Given the description of an element on the screen output the (x, y) to click on. 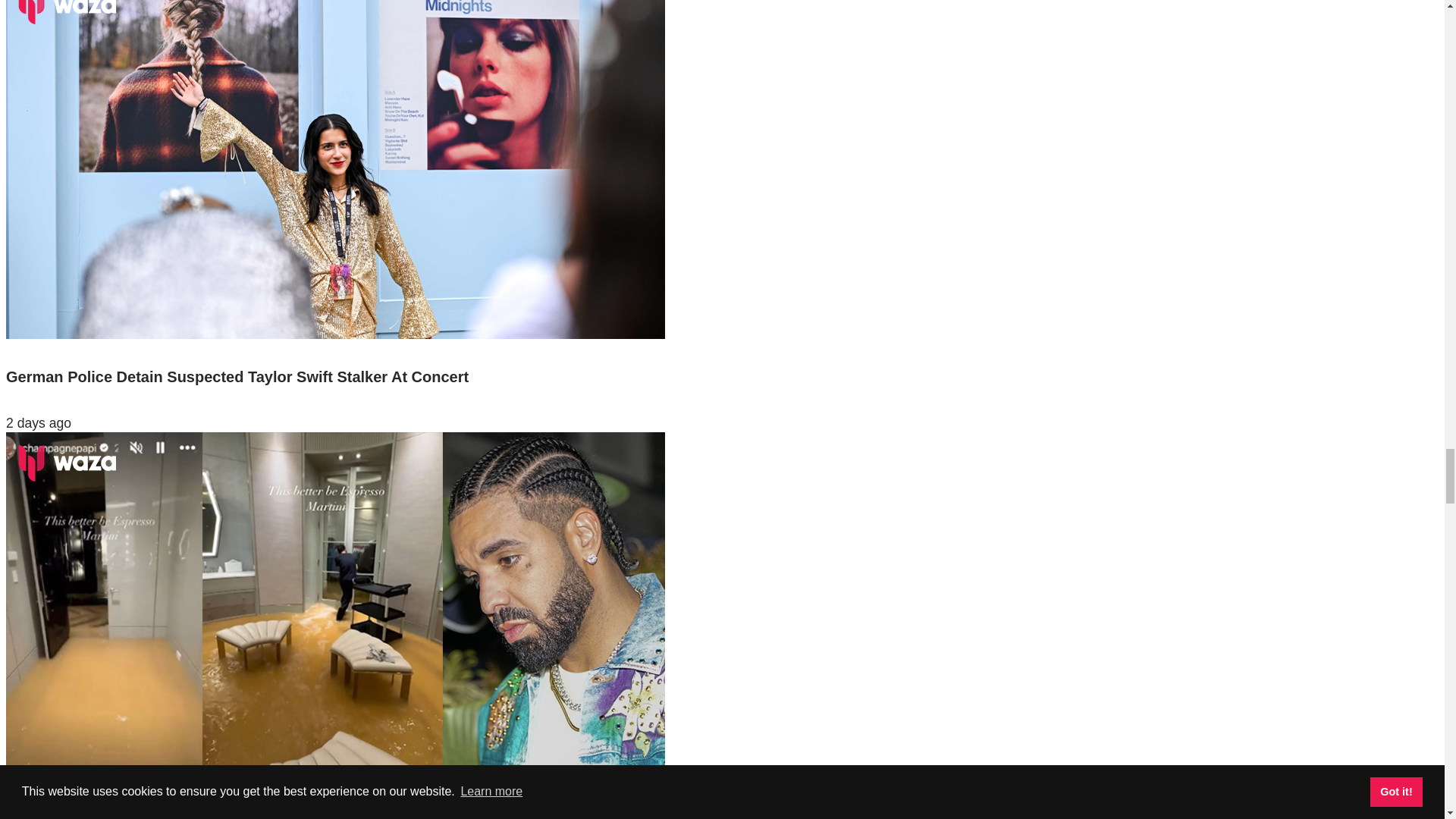
Drake's Toronto Mansion Floods; Video Shows Damage (335, 789)
